Given the description of an element on the screen output the (x, y) to click on. 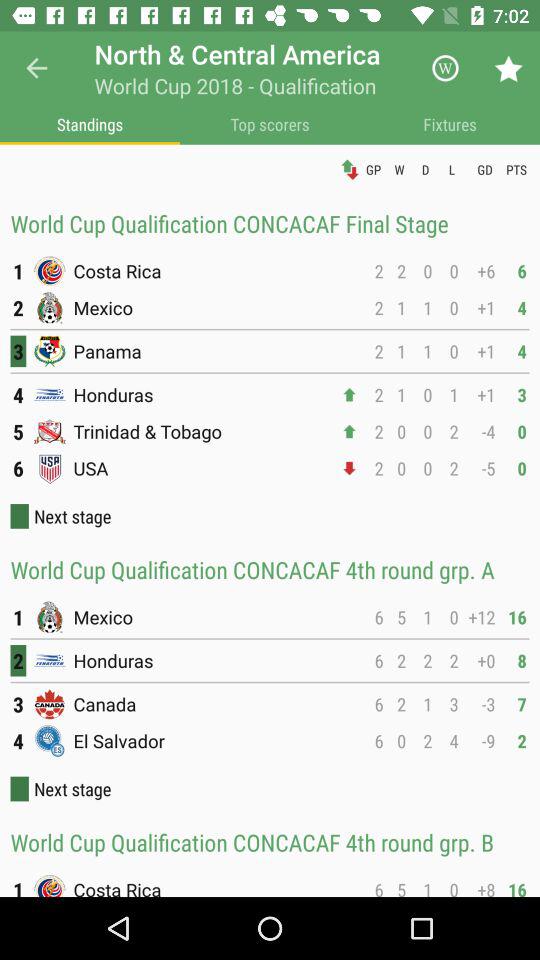
open fixtures icon (450, 124)
